Given the description of an element on the screen output the (x, y) to click on. 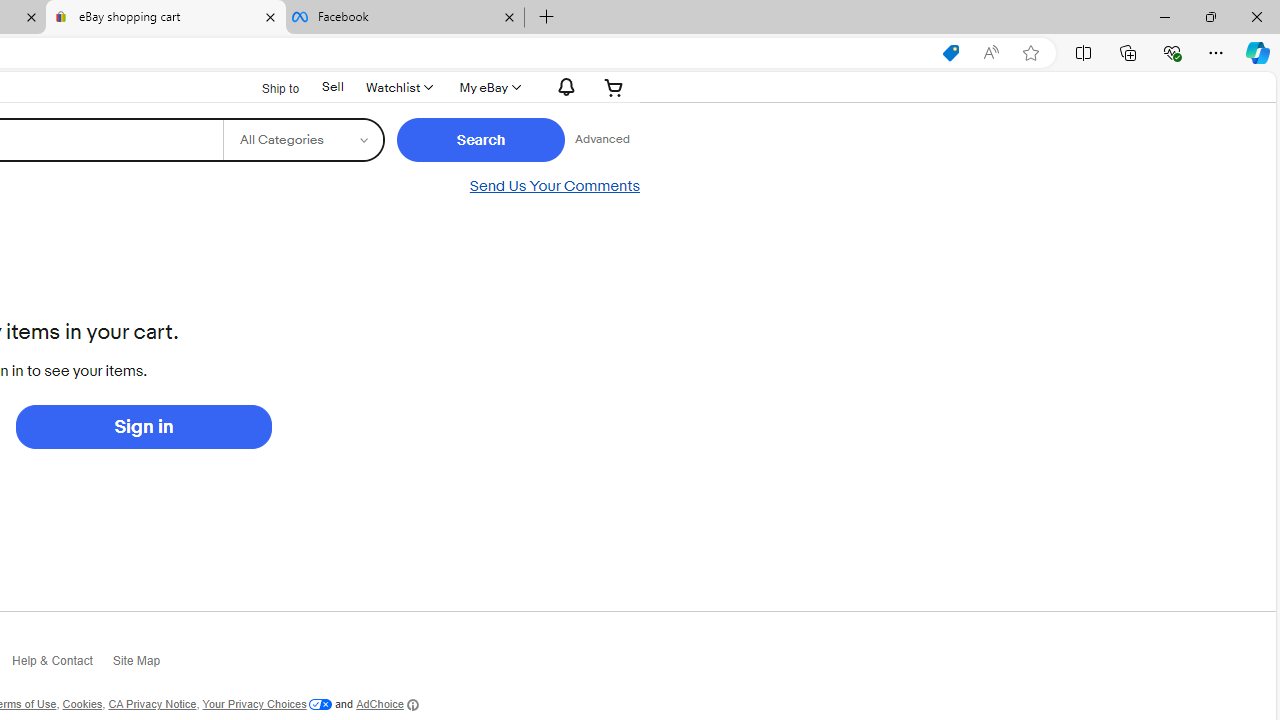
AutomationID: gh-eb-Alerts (563, 87)
Sign in (143, 426)
Cookies (81, 704)
Your shopping cart is empty (614, 87)
My eBayExpand My eBay (488, 87)
Select a category for search (301, 139)
Your Privacy Choices (266, 704)
Shopping in Microsoft Edge (950, 53)
